Given the description of an element on the screen output the (x, y) to click on. 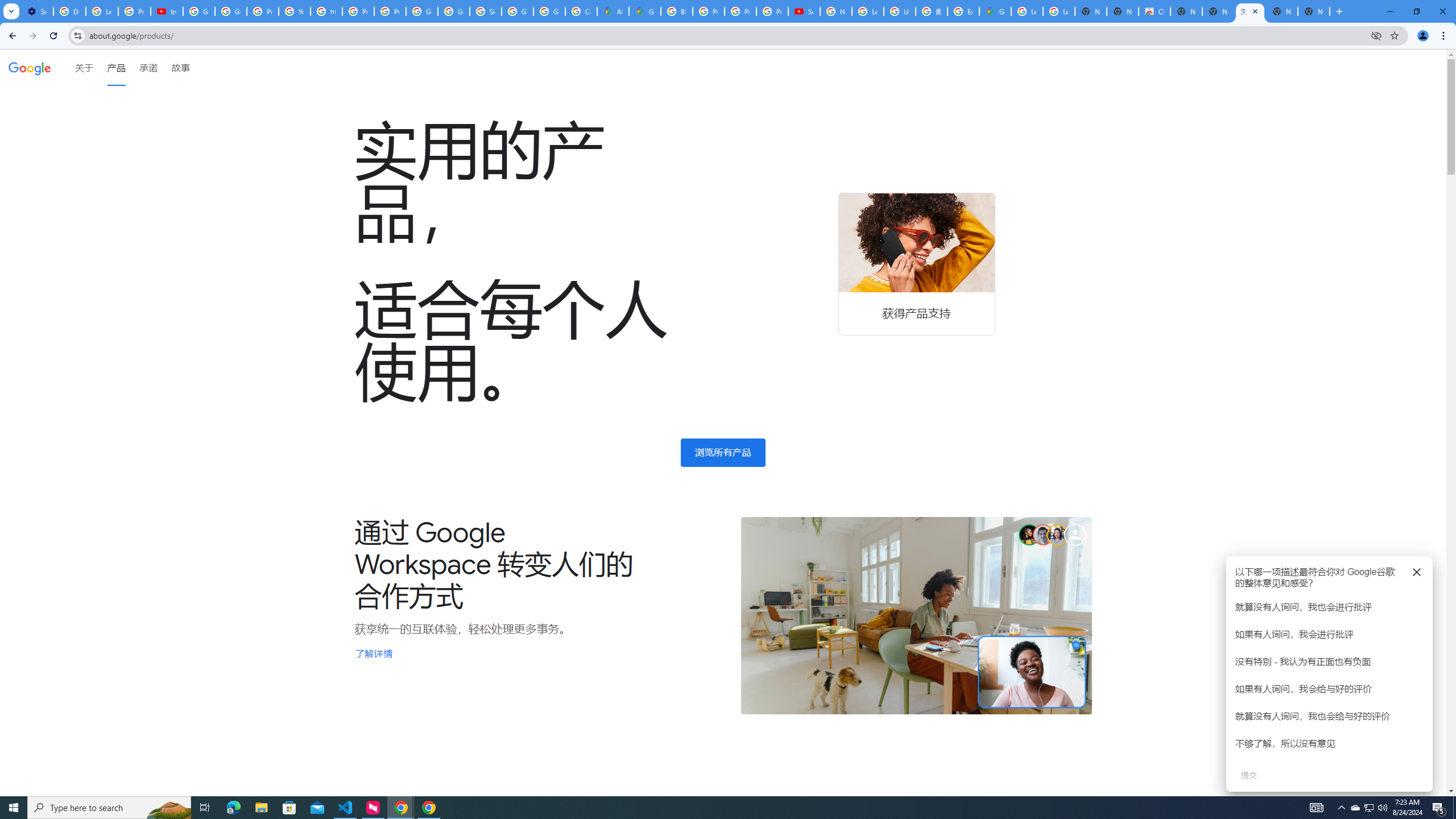
Sign in - Google Accounts (485, 11)
Privacy Help Center - Policies Help (740, 11)
Google Maps (995, 11)
